Given the description of an element on the screen output the (x, y) to click on. 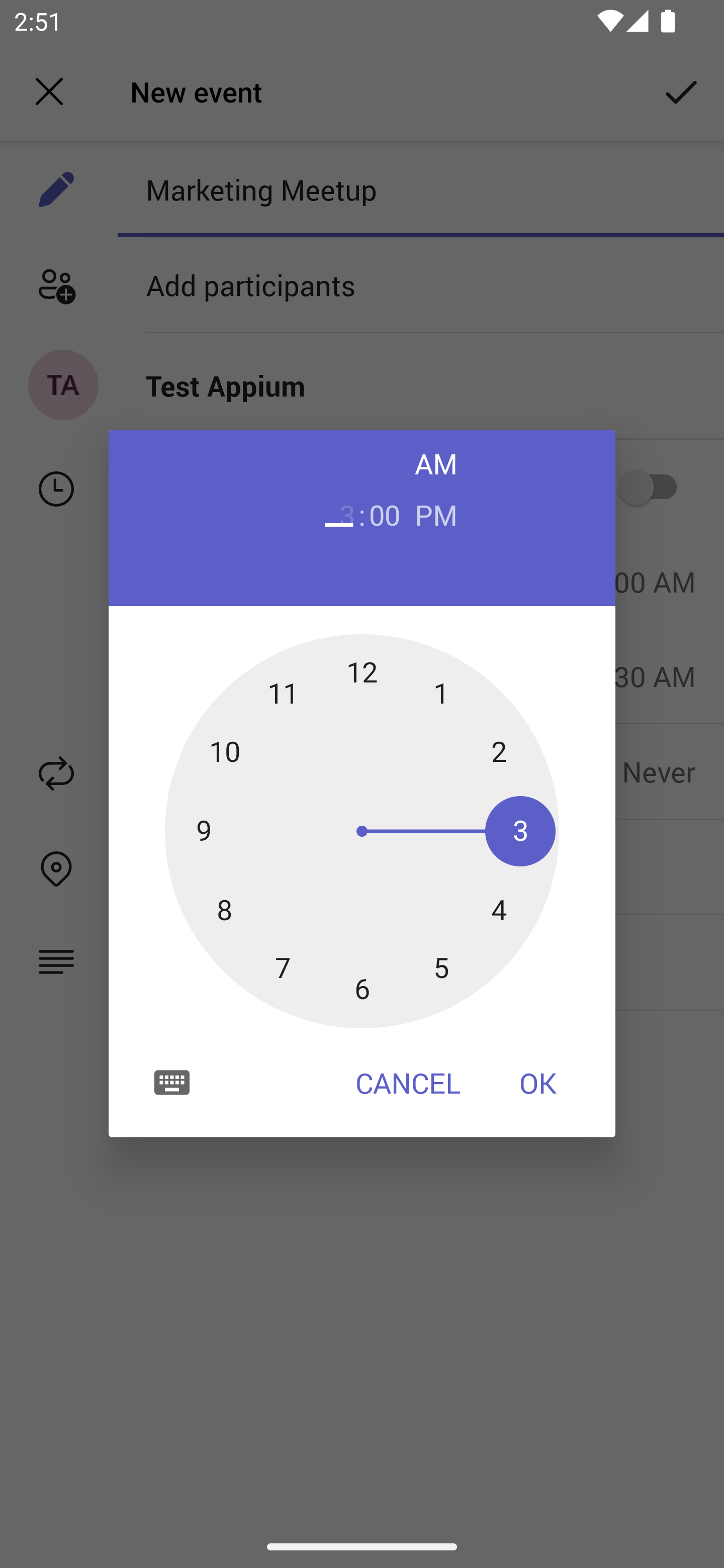
AM (435, 463)
PM (435, 514)
3 (338, 514)
00 (384, 514)
CANCEL (407, 1082)
OK (537, 1082)
Switch to text input mode for the time input. (171, 1081)
